Given the description of an element on the screen output the (x, y) to click on. 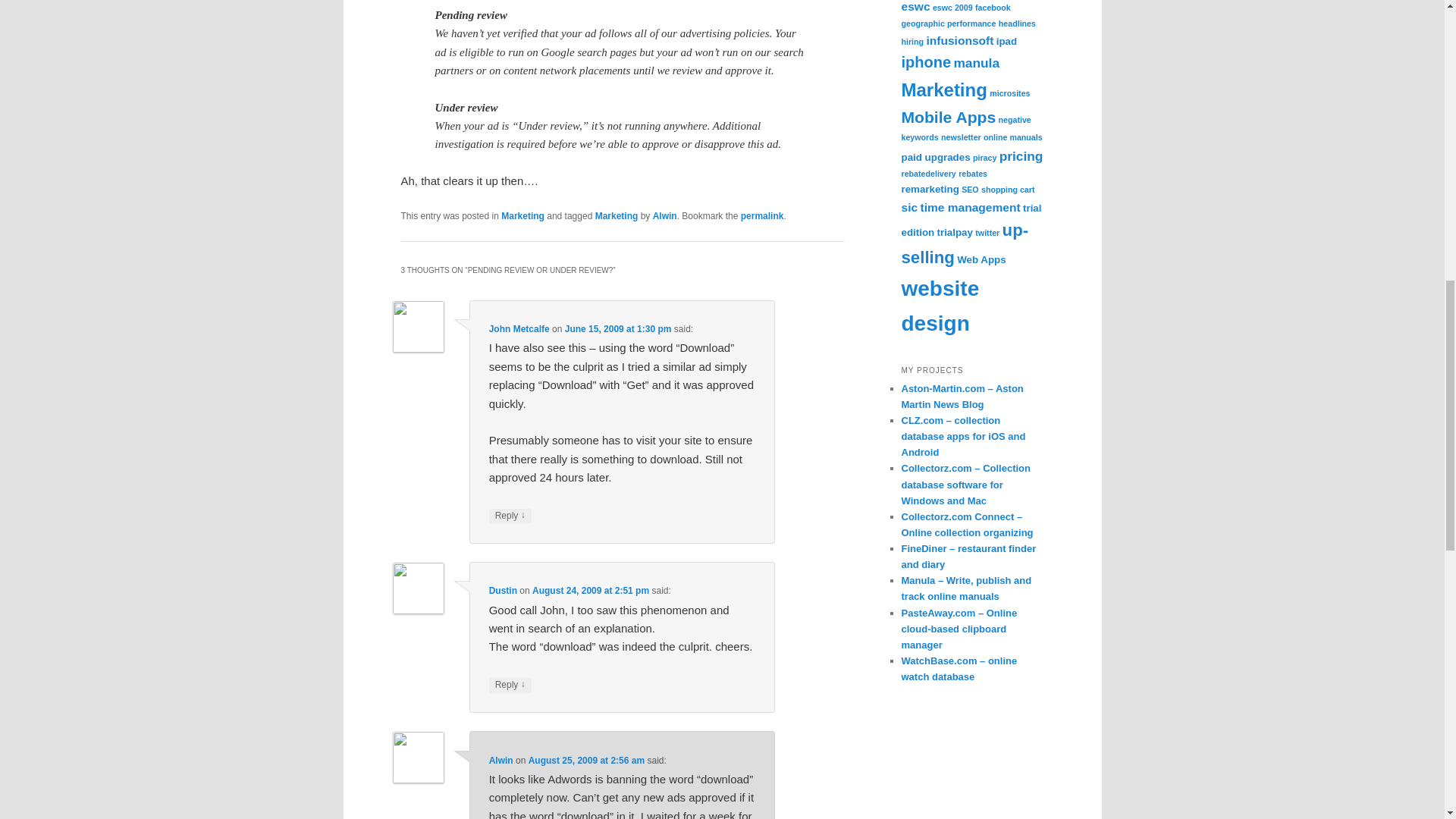
John Metcalfe (519, 328)
Marketing (522, 215)
June 15, 2009 at 1:30 pm (617, 328)
Permalink to Pending Review or Under Review? (762, 215)
August 24, 2009 at 2:51 pm (590, 590)
Alwin (501, 760)
Alwin (664, 215)
permalink (762, 215)
Marketing (617, 215)
August 25, 2009 at 2:56 am (586, 760)
